Given the description of an element on the screen output the (x, y) to click on. 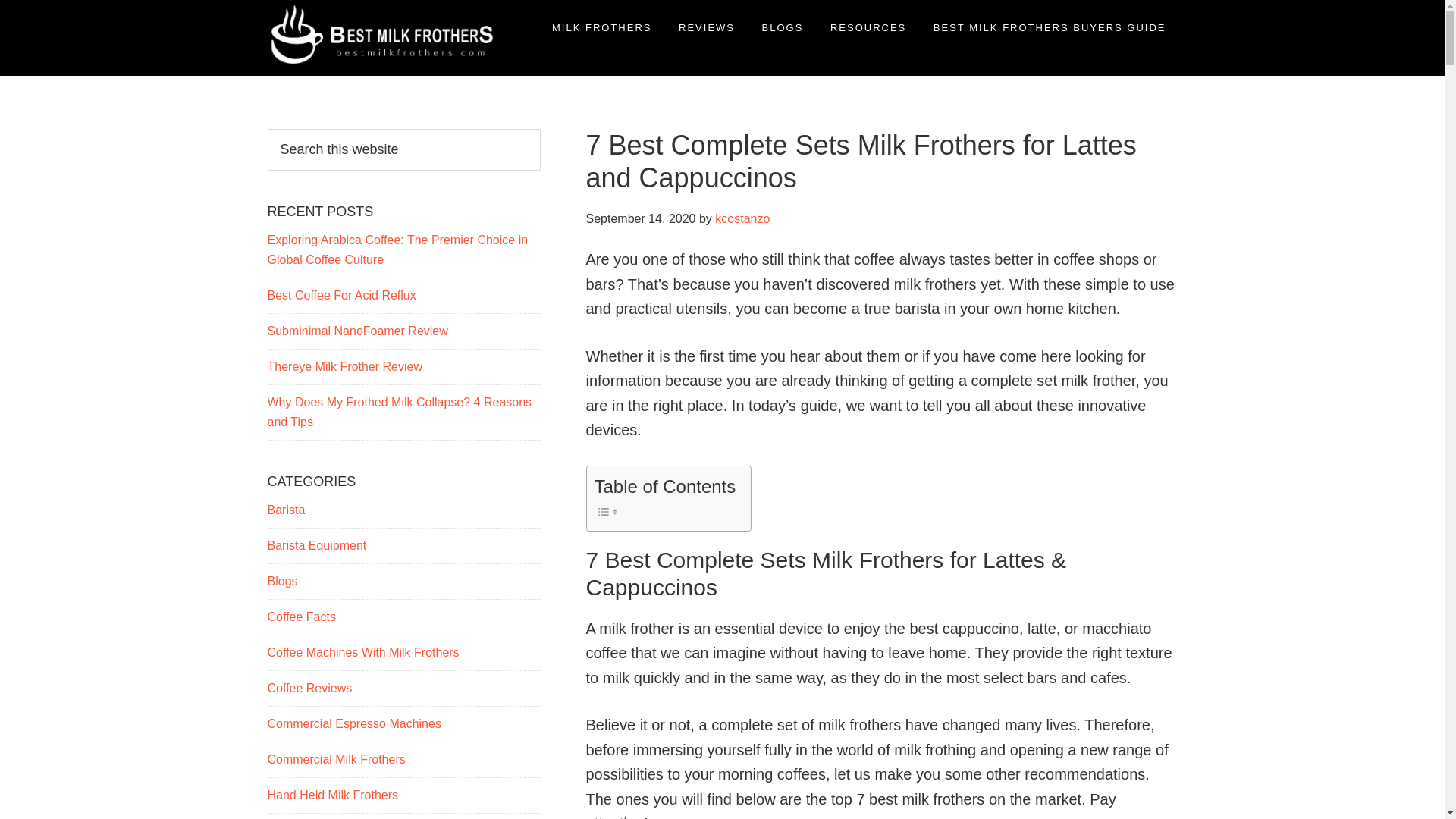
REVIEWS (705, 27)
MILK FROTHERS (601, 27)
BLOGS (783, 27)
BEST MILK FROTHERS BUYERS GUIDE (1049, 27)
kcostanzo (742, 218)
RESOURCES (867, 27)
Best Milk Frothers (300, 98)
